Given the description of an element on the screen output the (x, y) to click on. 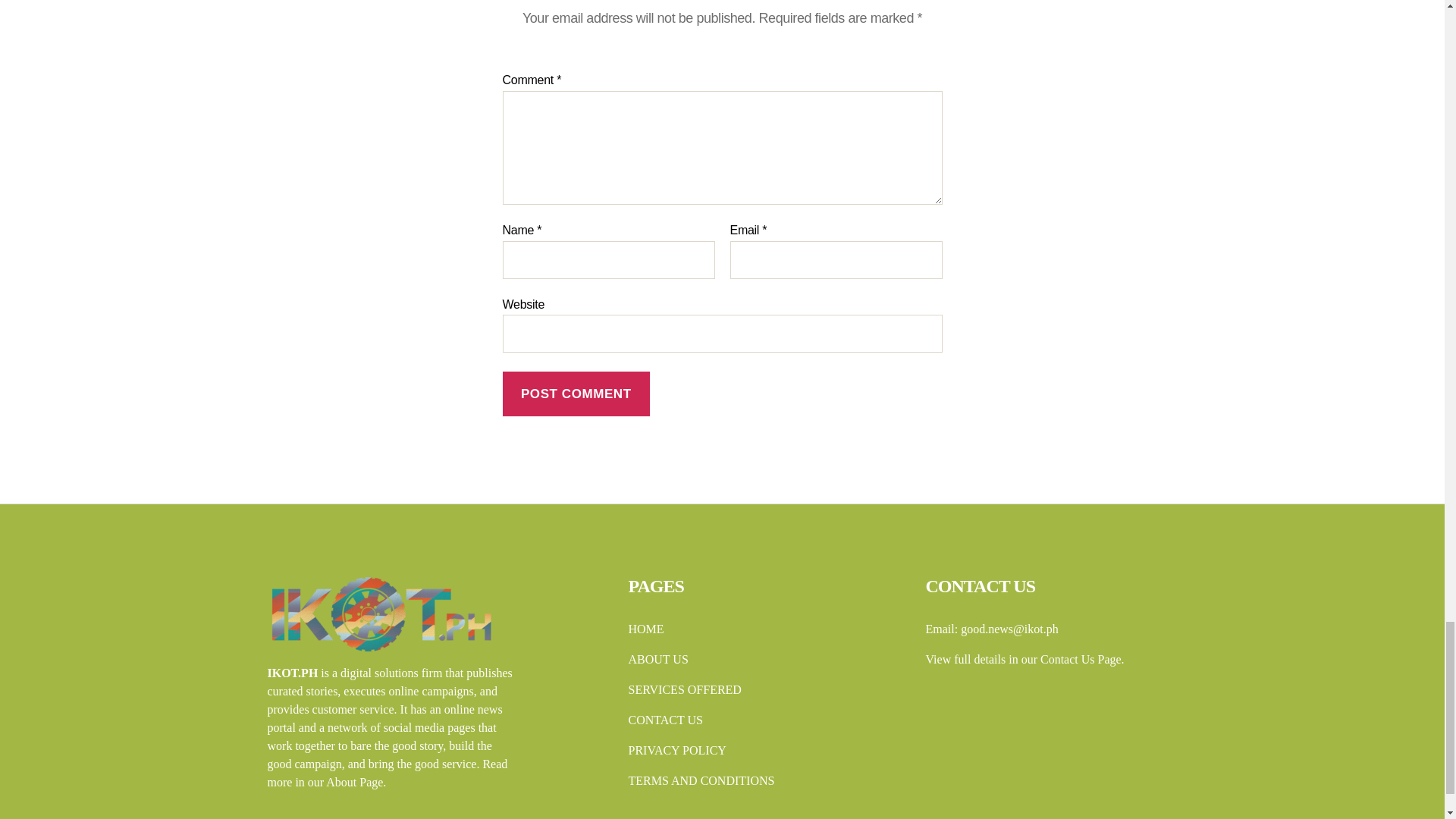
Post Comment (575, 393)
